Given the description of an element on the screen output the (x, y) to click on. 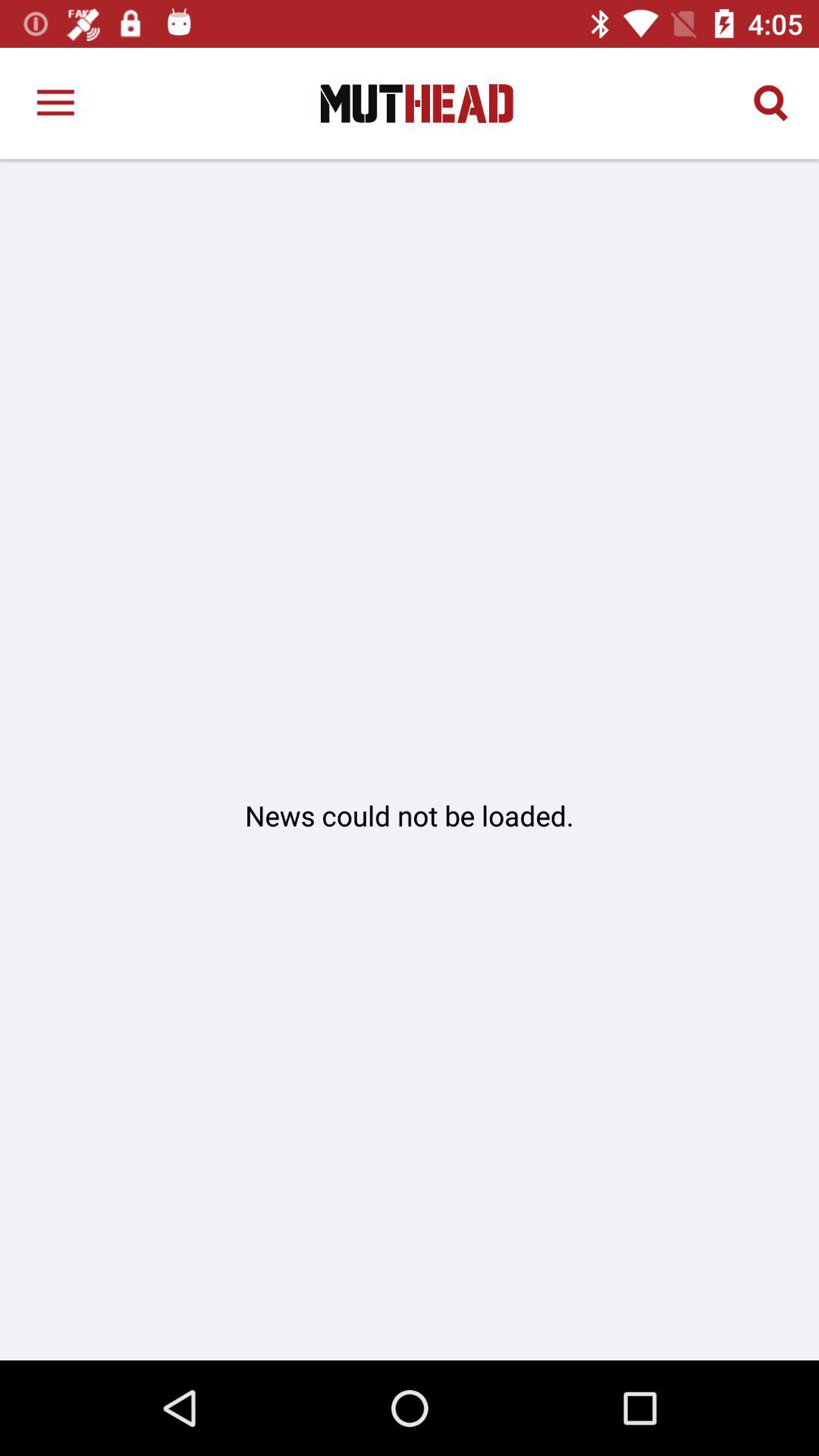
open the icon at the top right corner (771, 103)
